Given the description of an element on the screen output the (x, y) to click on. 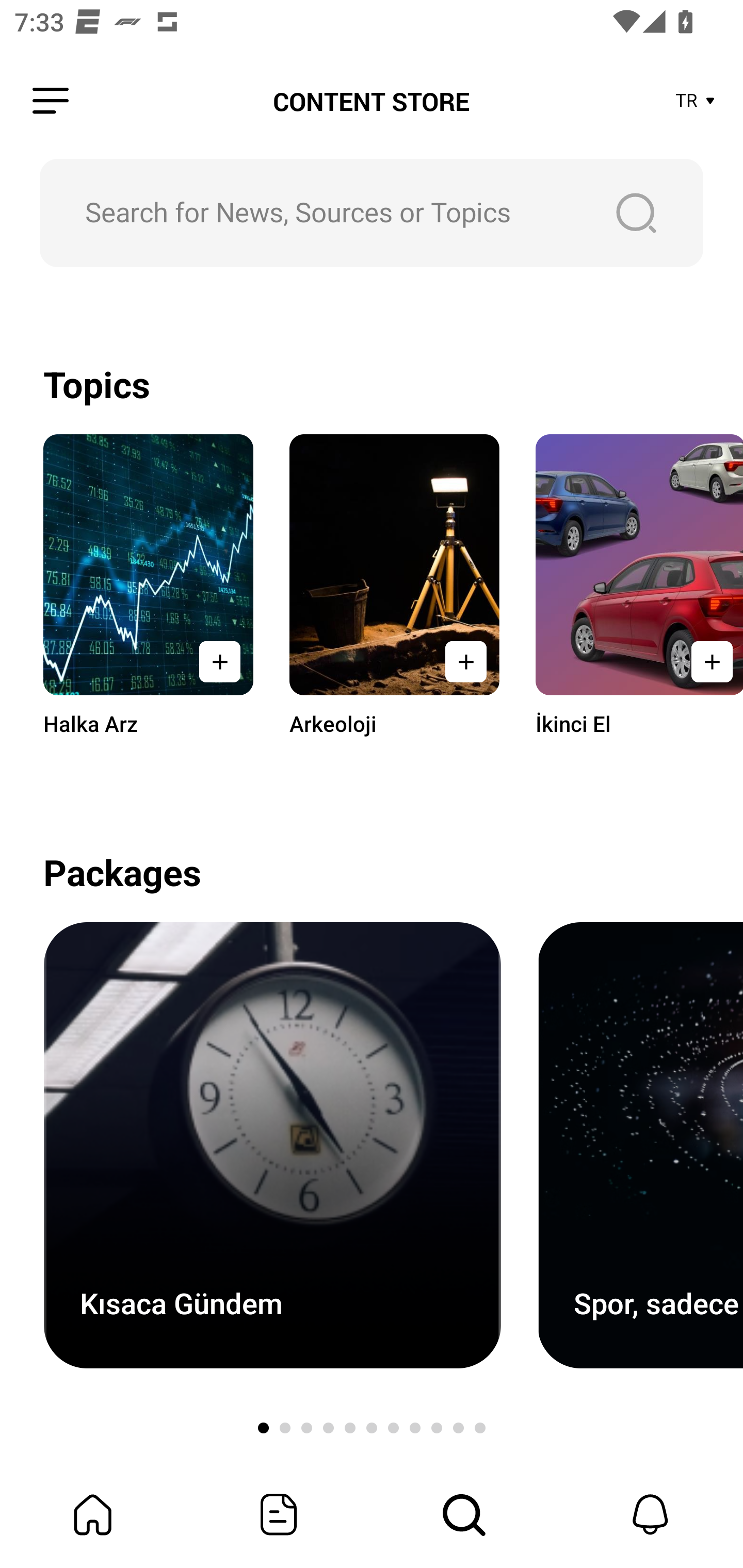
Leading Icon (50, 101)
TR Store Area (695, 101)
Search for News, Sources or Topics Search Button (371, 212)
Add To My Bundle (219, 661)
Add To My Bundle (465, 661)
Add To My Bundle (705, 661)
Content Store Discover Card Image Kısaca Gündem (271, 1144)
My Bundle (92, 1514)
Featured (278, 1514)
Notifications (650, 1514)
